Given the description of an element on the screen output the (x, y) to click on. 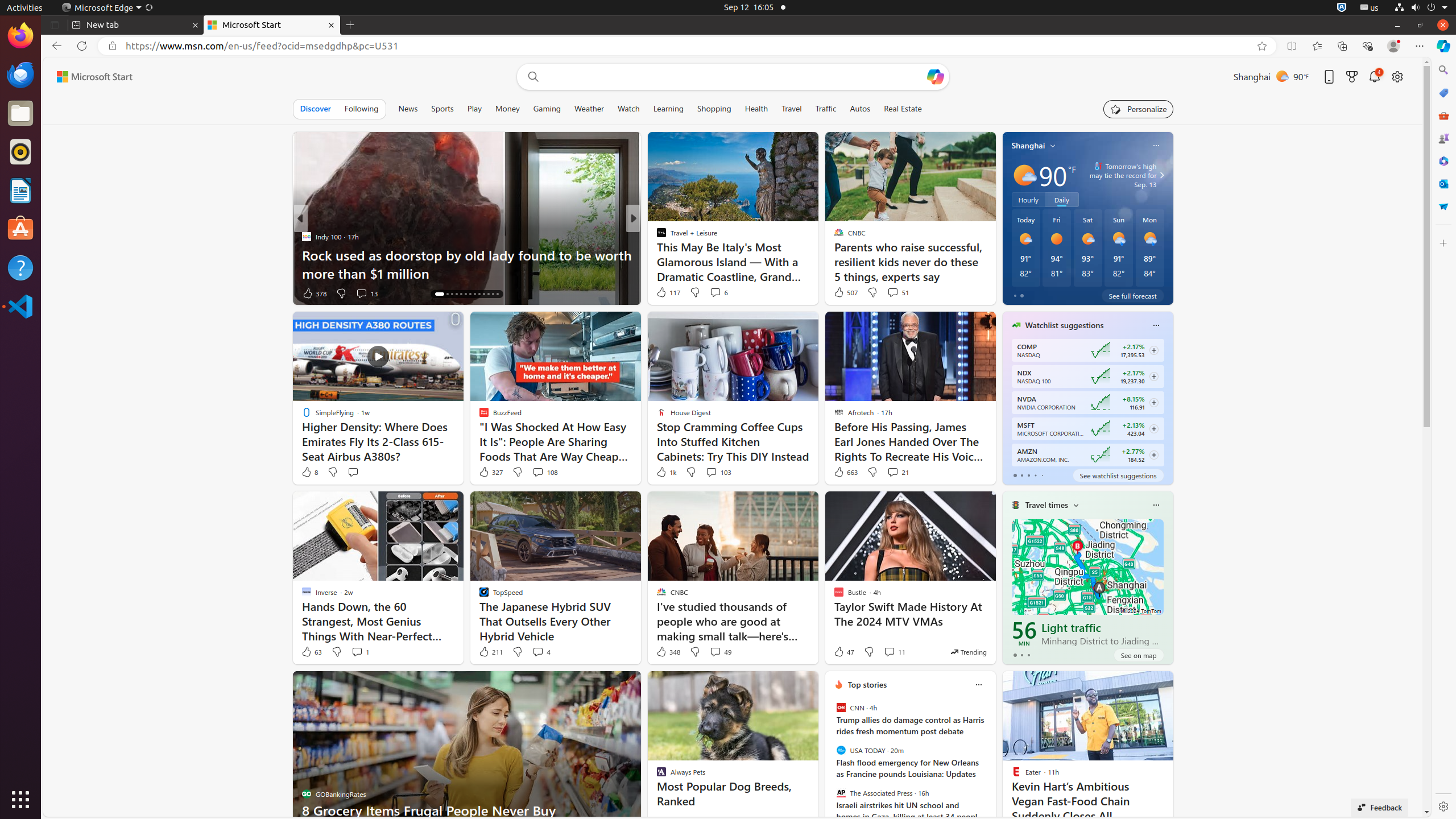
View comments 7 Comment Element type: link (715, 292)
USA TODAY USA TODAY 20 minutes Flash flood emergency for New Orleans as Francine pounds Louisiana: Updates Element type: link (909, 761)
More options Element type: push-button (978, 684)
Consumer Health Privacy Element type: link (1091, 809)
Open Copilot Element type: push-button (934, 76)
